Given the description of an element on the screen output the (x, y) to click on. 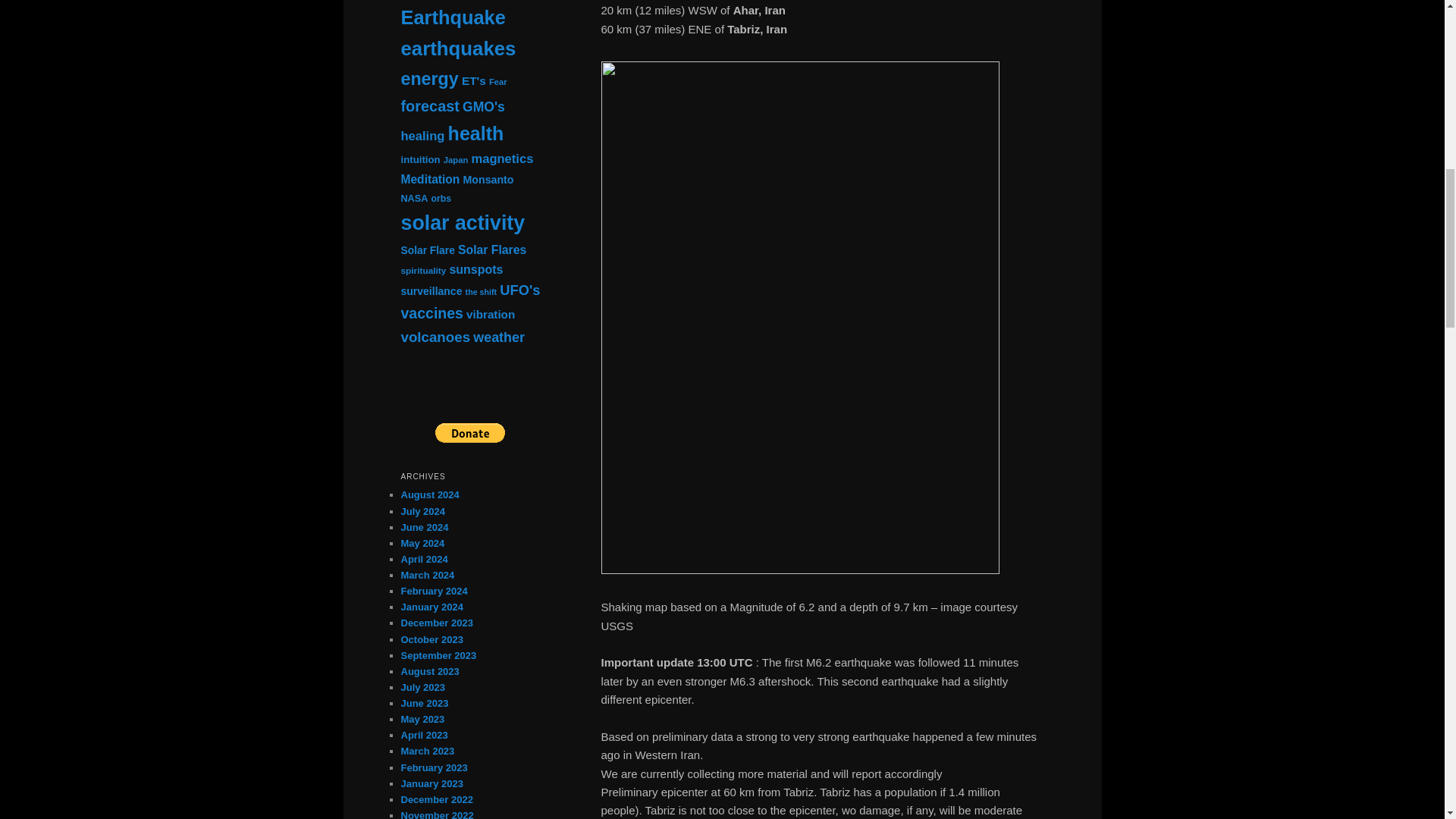
forecast (429, 105)
Earthquake (452, 16)
energy (429, 78)
Fear (497, 81)
Follow Chromographics Institute on Twitter (471, 388)
ET's (473, 80)
earthquakes (457, 47)
